Given the description of an element on the screen output the (x, y) to click on. 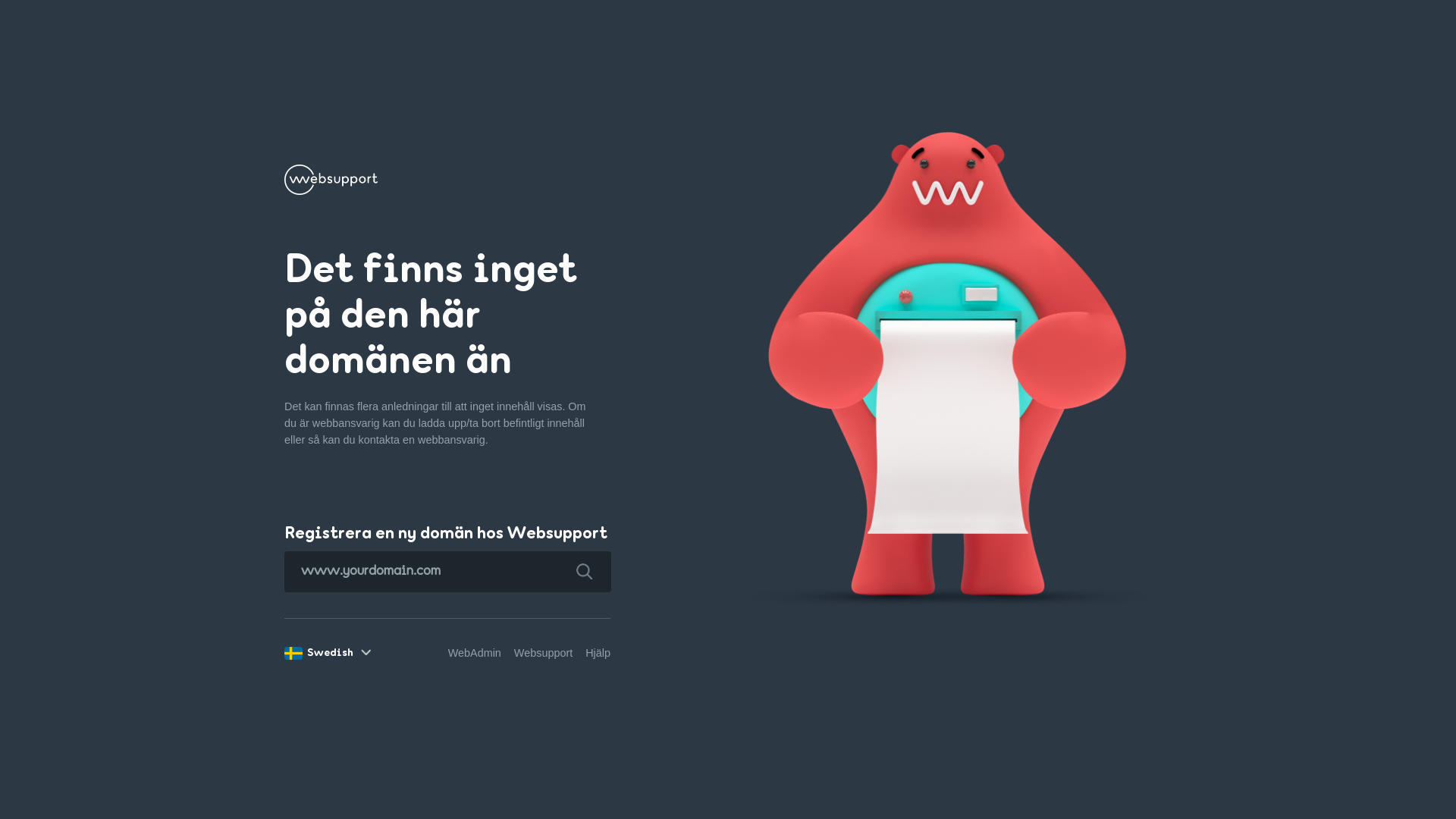
WebAdmin Element type: text (474, 652)
Websupport Element type: text (543, 652)
